Given the description of an element on the screen output the (x, y) to click on. 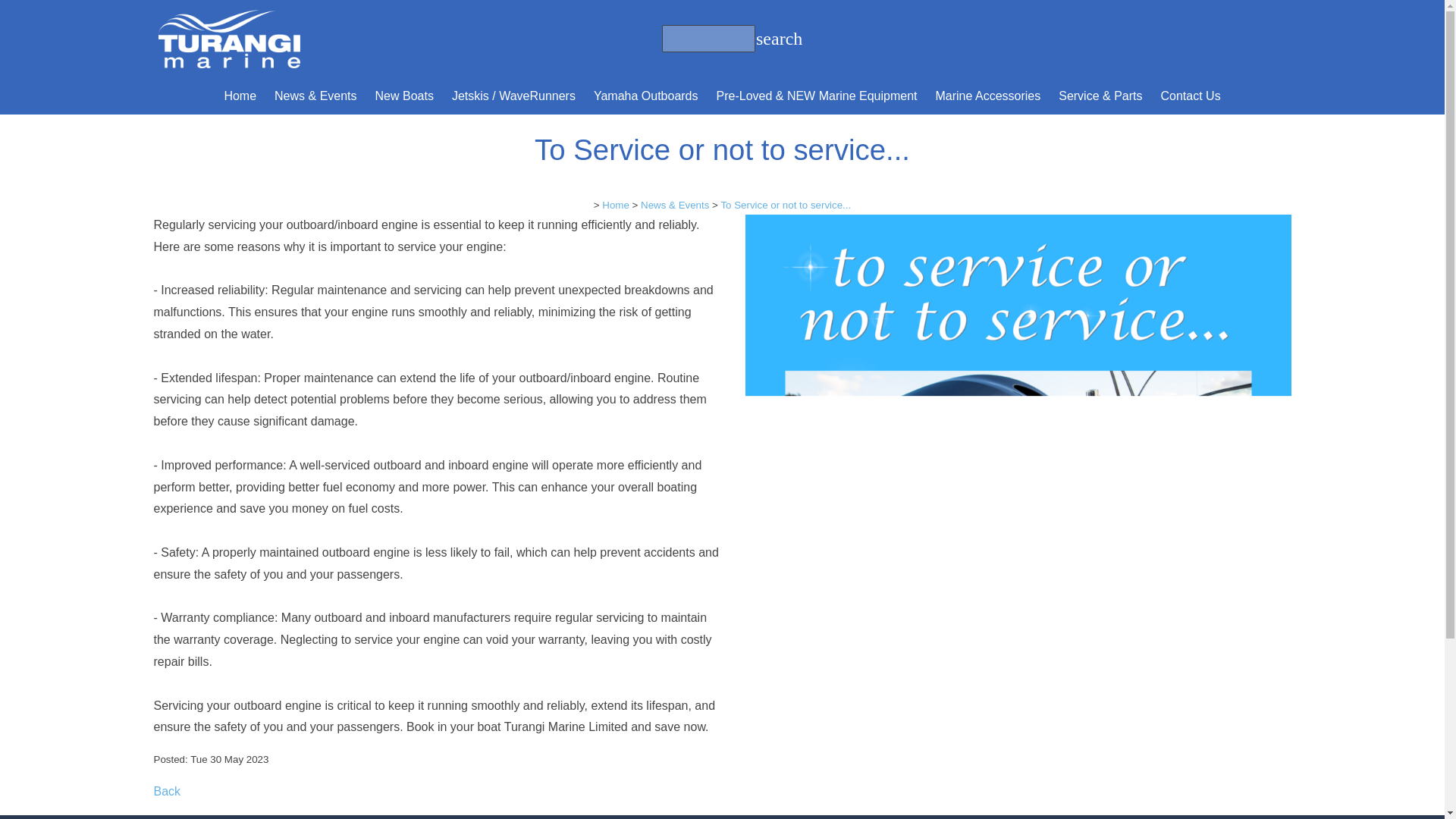
Marine Accessories (987, 95)
New Boats (404, 95)
Yamaha Outboards (646, 95)
Home (239, 95)
search (769, 38)
To Service or not to service... (1017, 756)
